Given the description of an element on the screen output the (x, y) to click on. 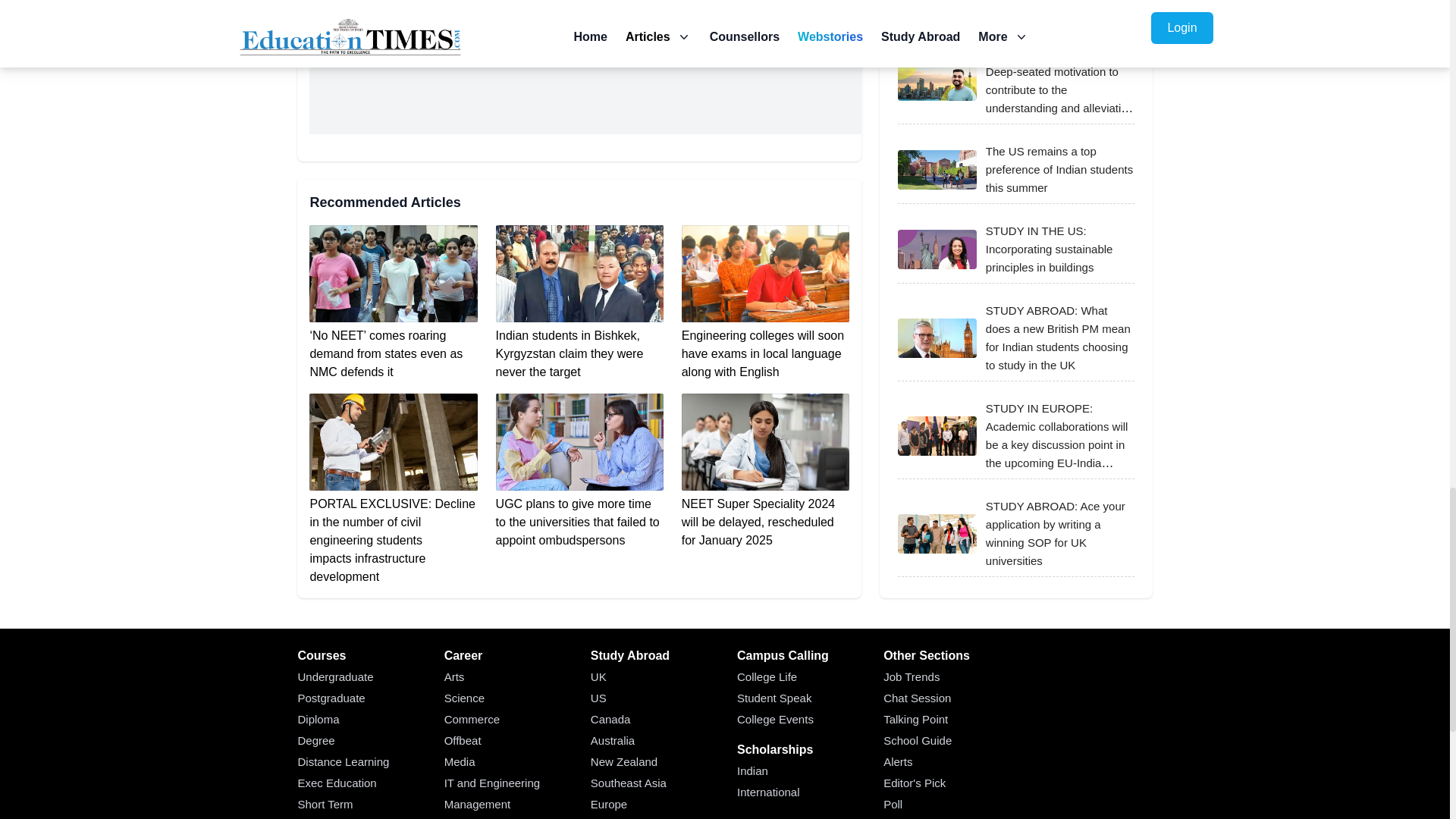
3rd party ad content (584, 100)
